Given the description of an element on the screen output the (x, y) to click on. 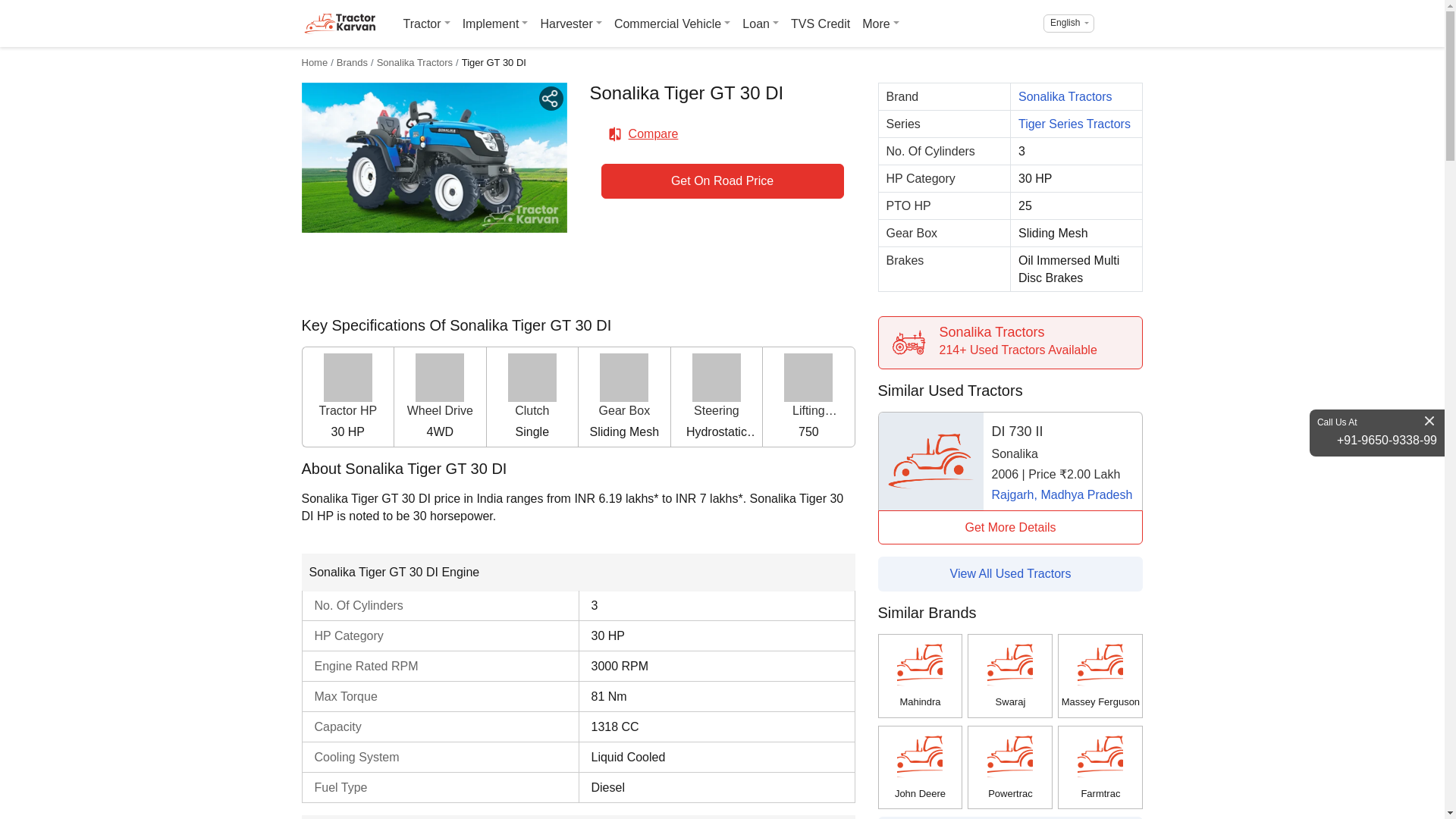
Implement (495, 24)
TVS Credit (820, 24)
Tractor (427, 24)
Tractor (427, 24)
More (880, 24)
Harvester (570, 24)
Tractorkarvan (338, 23)
Harvester (570, 24)
Loan (760, 24)
Implement (495, 24)
